Given the description of an element on the screen output the (x, y) to click on. 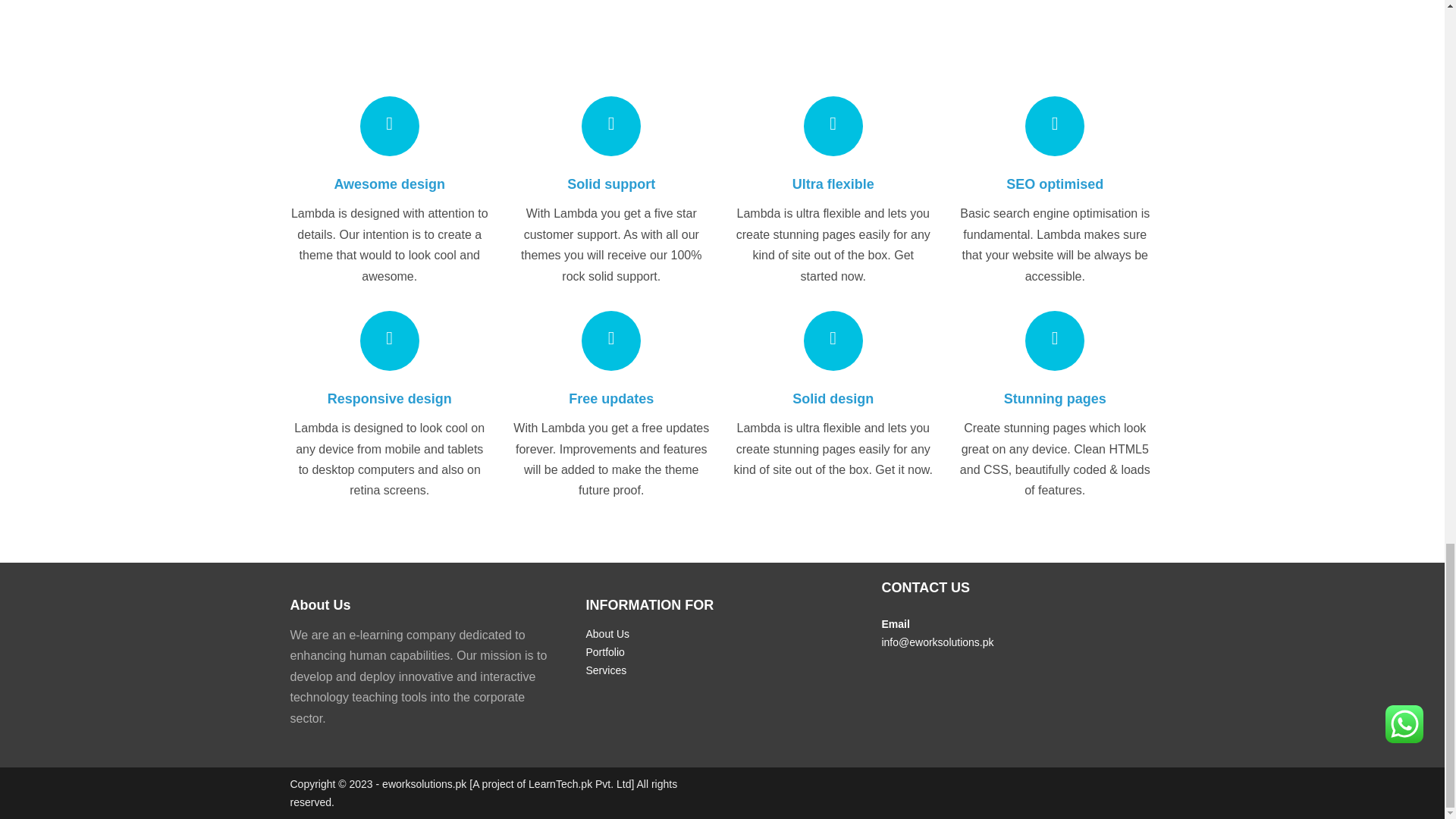
Solid support (611, 183)
Portfolio (604, 652)
SEO optimised (1054, 183)
Awesome design (389, 183)
Ultra flexible (833, 183)
Free updates (611, 398)
Solid design (832, 398)
Services (605, 670)
Stunning pages (1055, 398)
About Us (606, 633)
Responsive design (389, 398)
